Given the description of an element on the screen output the (x, y) to click on. 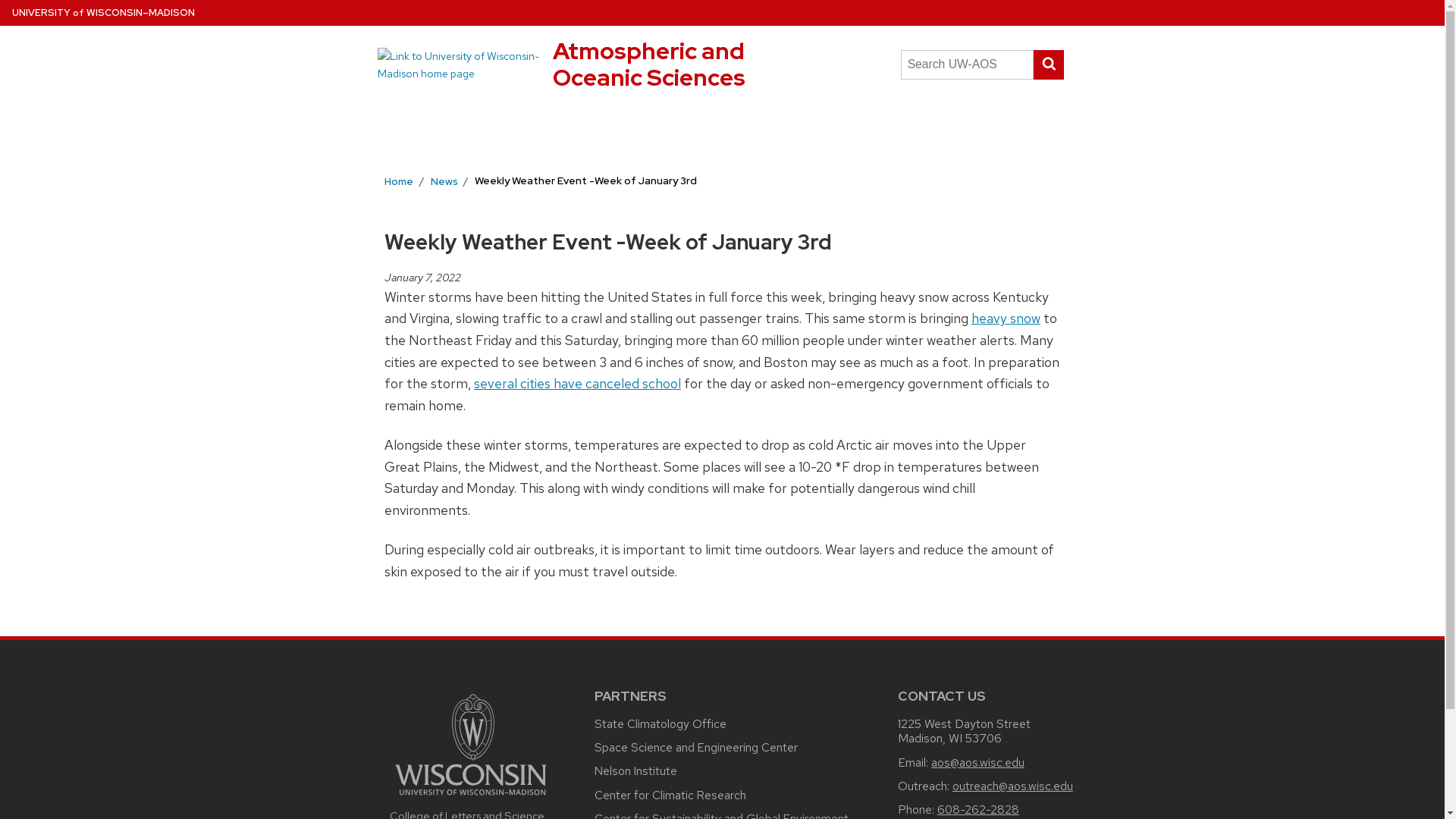
Submit search (1047, 64)
Skip to main content (649, 64)
